Given the description of an element on the screen output the (x, y) to click on. 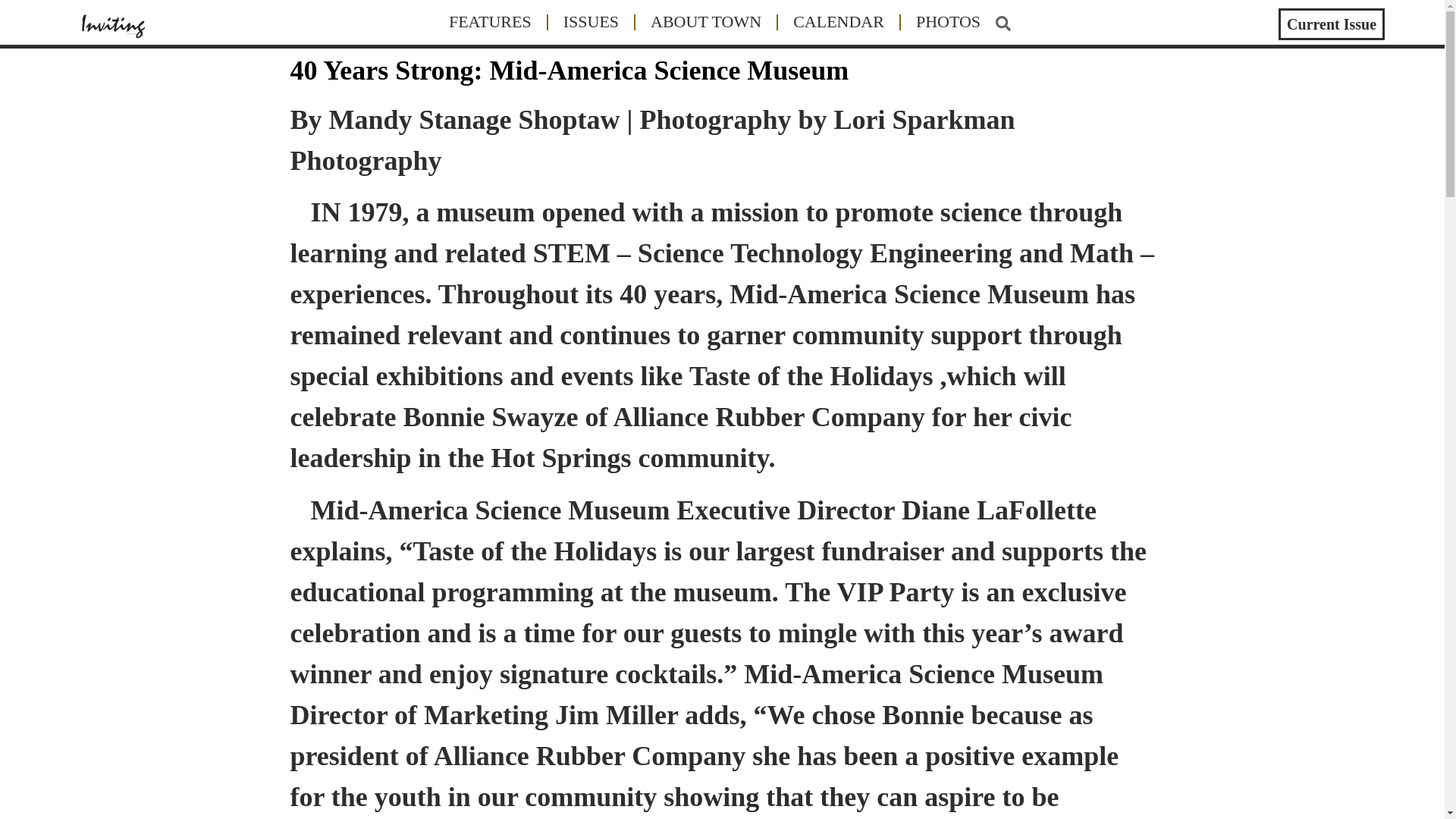
ISSUES (590, 21)
PHOTOS (948, 21)
FEATURES (490, 21)
Current Issue (1331, 24)
ABOUT TOWN (705, 21)
CALENDAR (838, 21)
